Given the description of an element on the screen output the (x, y) to click on. 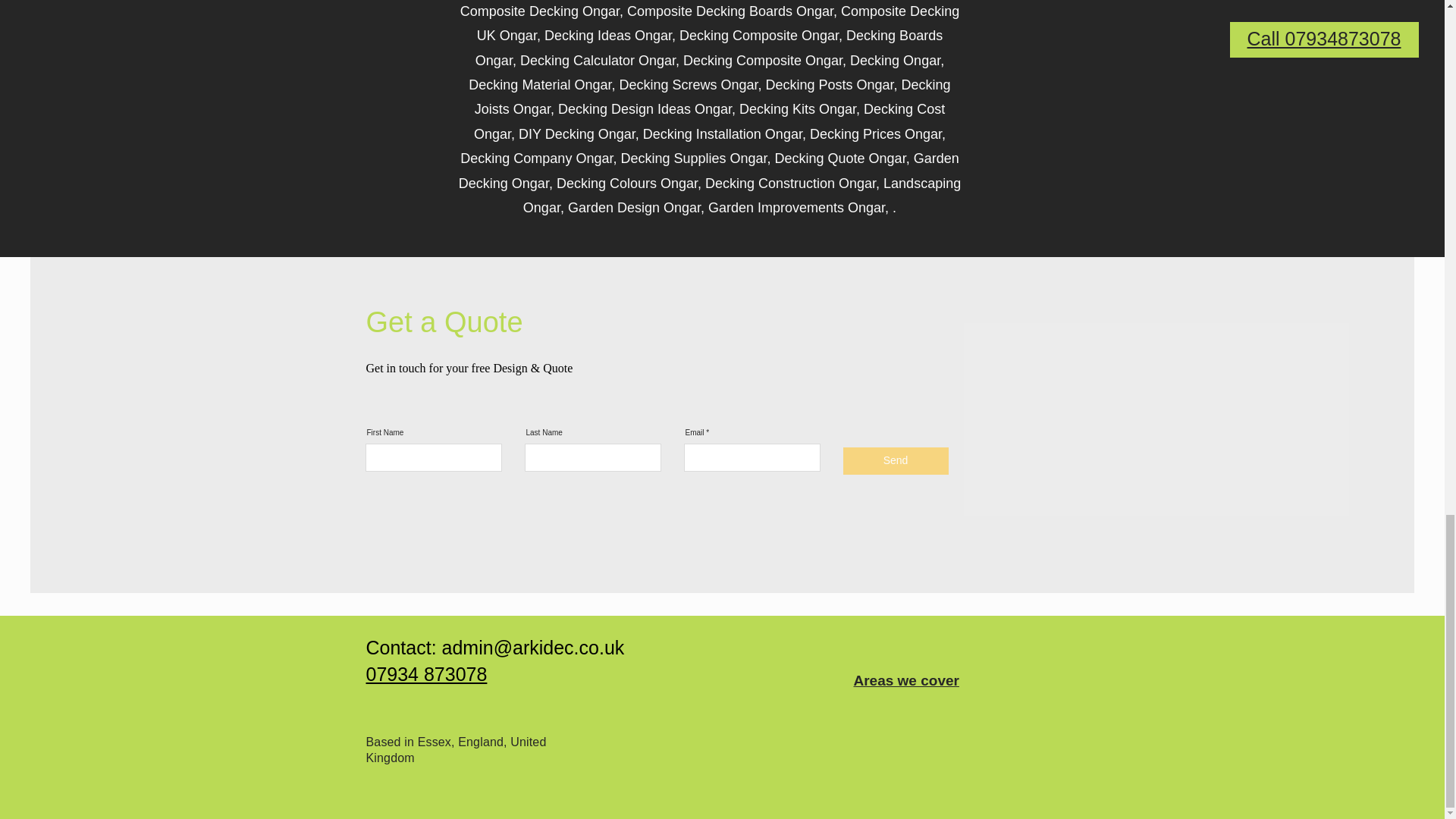
Send (896, 461)
07934 873078 (425, 673)
Areas we cover (906, 680)
